Given the description of an element on the screen output the (x, y) to click on. 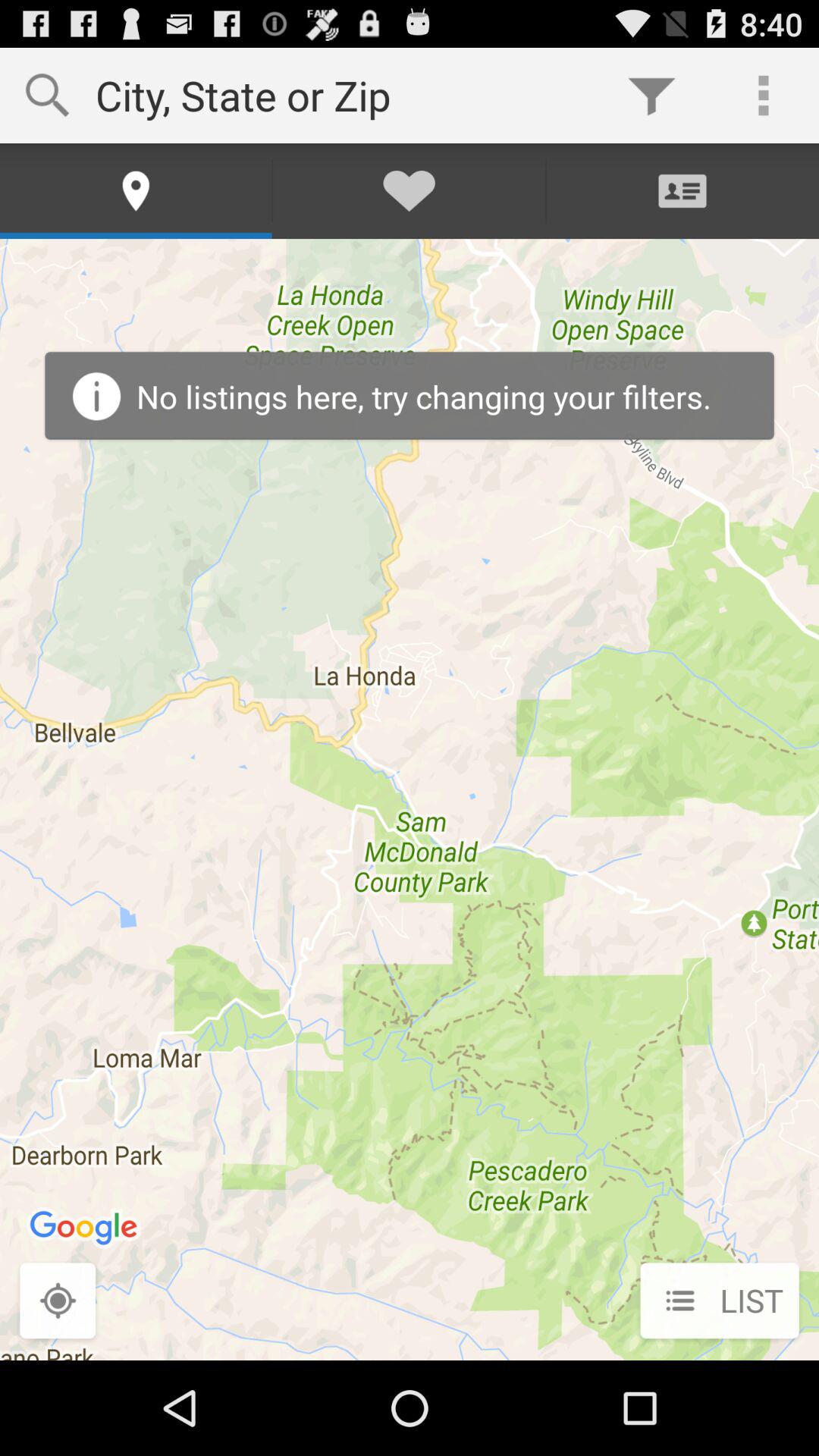
turn on app below no listings here app (719, 1302)
